Given the description of an element on the screen output the (x, y) to click on. 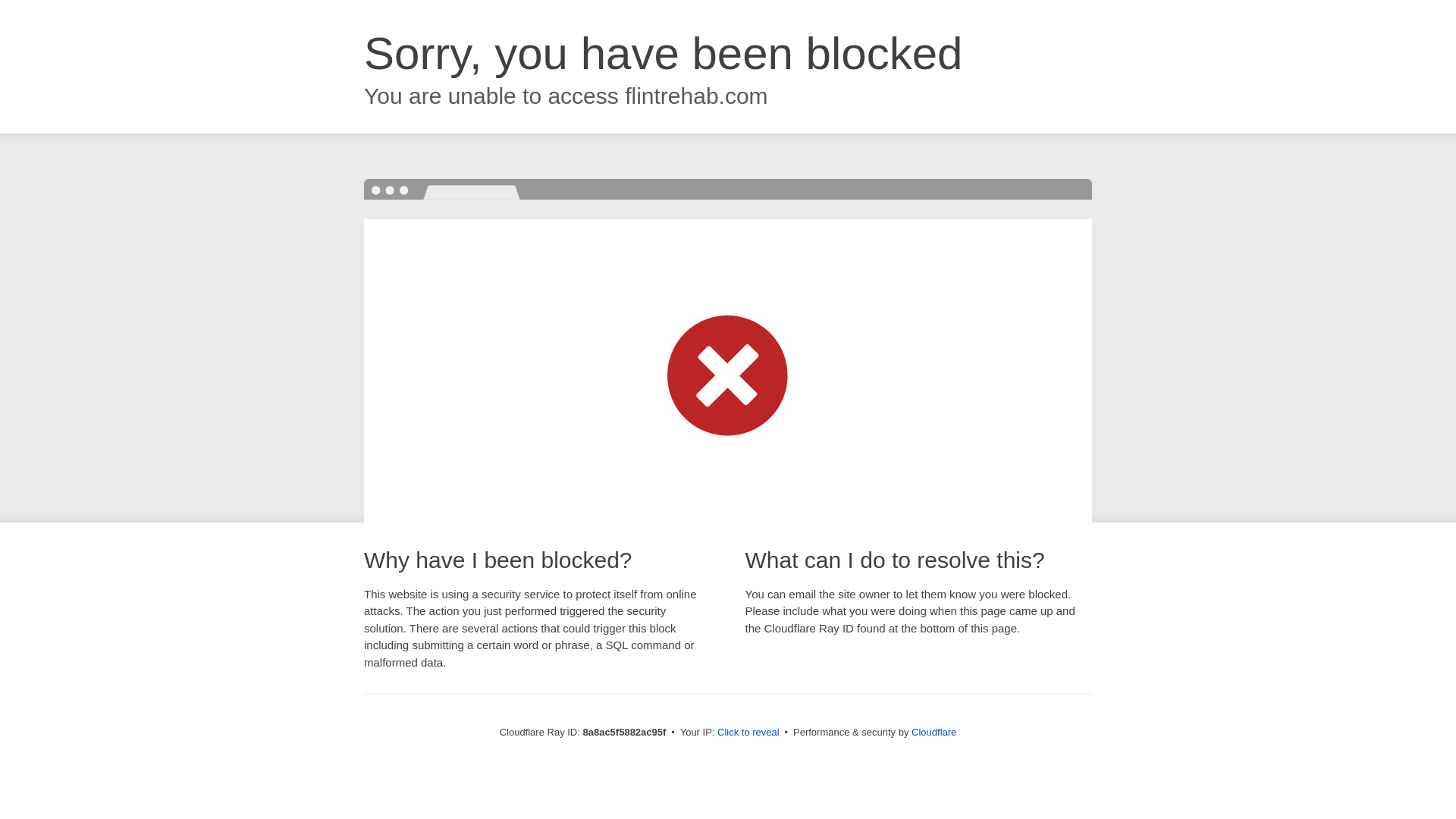
Click to reveal (747, 732)
Cloudflare (933, 731)
